Given the description of an element on the screen output the (x, y) to click on. 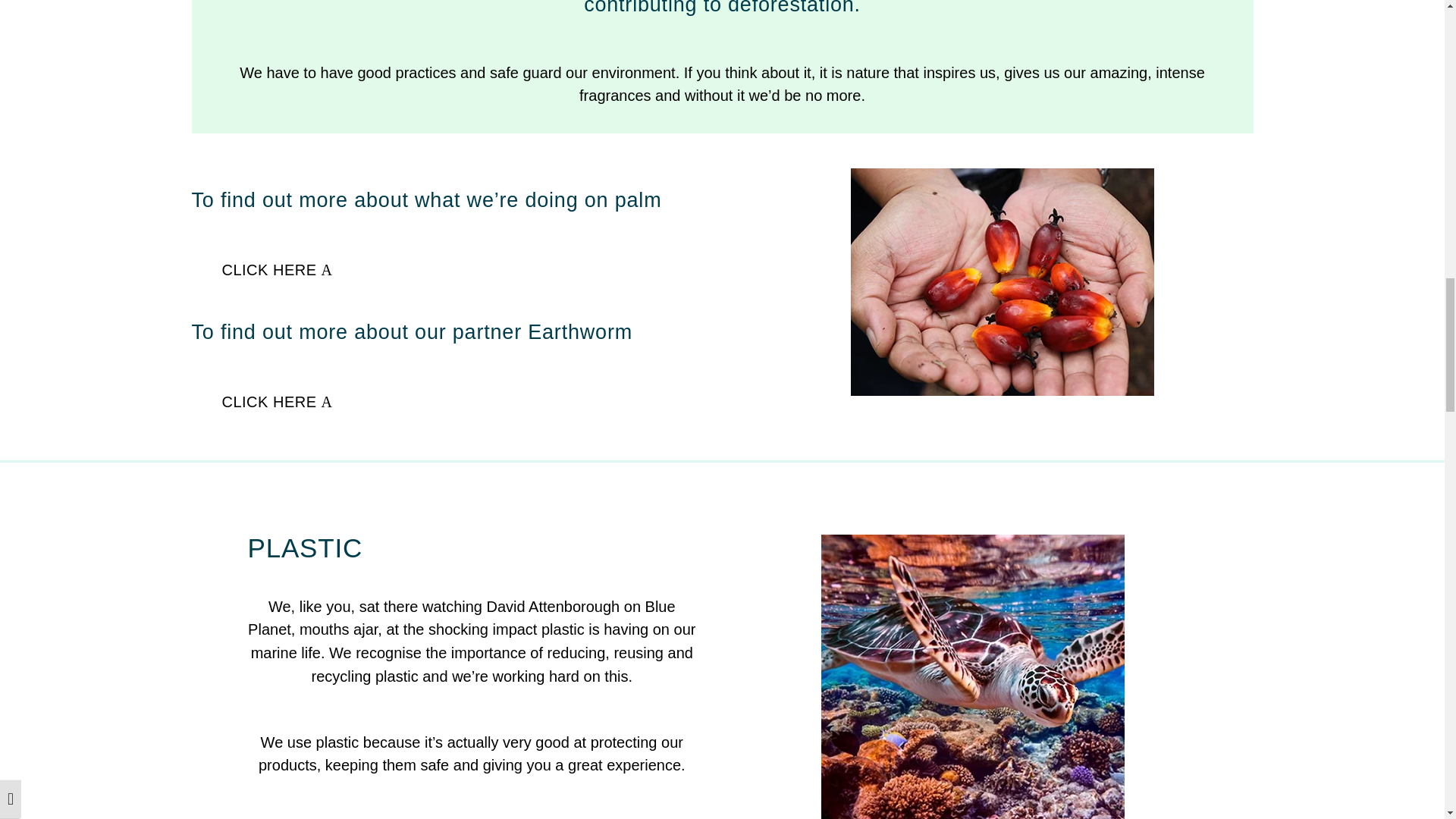
CLICK HERE (268, 269)
